Given the description of an element on the screen output the (x, y) to click on. 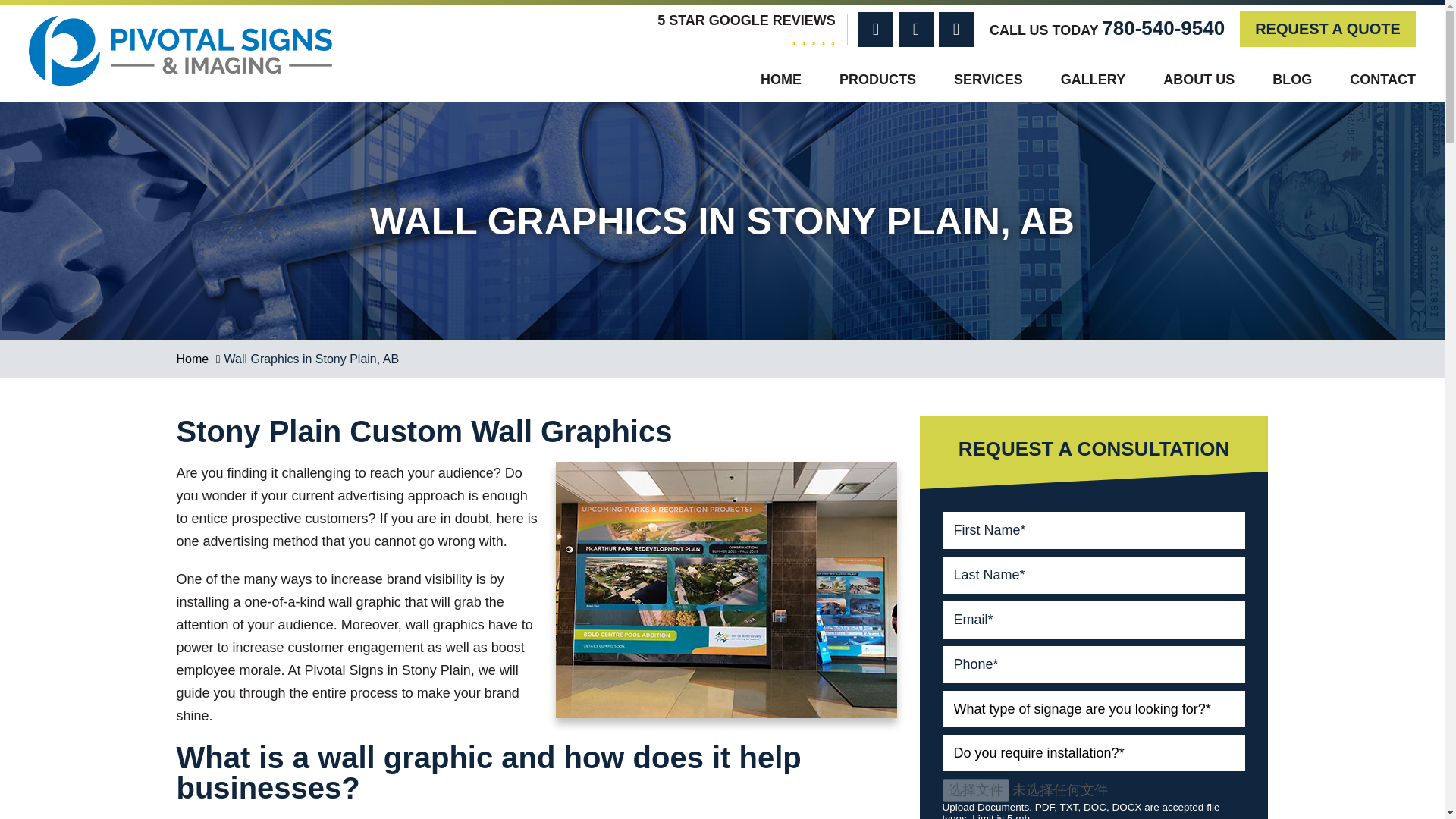
Pivotal Signs (180, 27)
780-540-9540 (1163, 27)
REQUEST A QUOTE (1327, 28)
Go to Pivotal Signs. (192, 358)
5 STAR GOOGLE REVIEWS (746, 29)
HOME (764, 78)
PRODUCTS (860, 78)
